Given the description of an element on the screen output the (x, y) to click on. 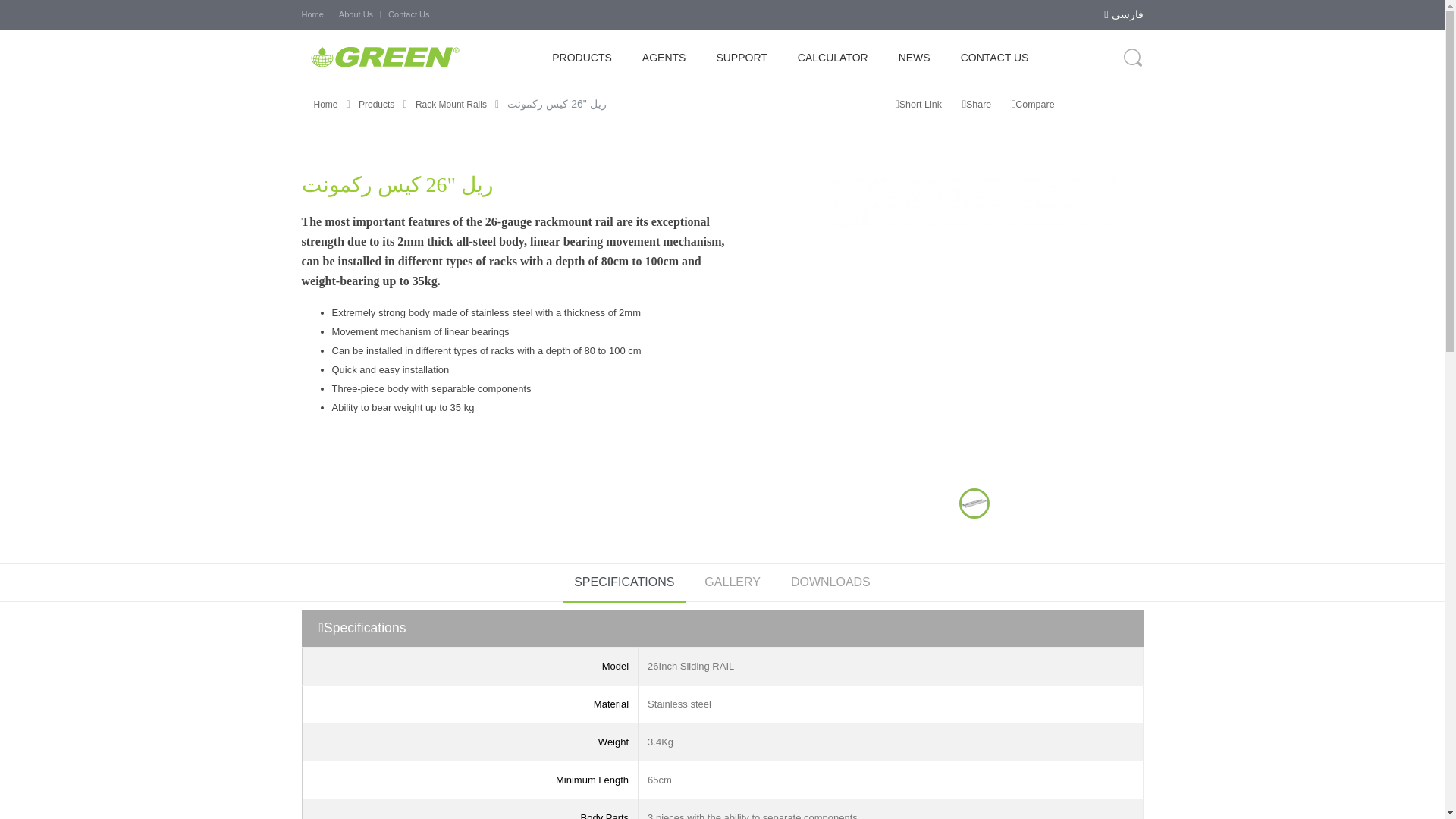
Home (312, 14)
About Us (355, 14)
Contact Us (408, 14)
PRODUCTS (582, 57)
